Given the description of an element on the screen output the (x, y) to click on. 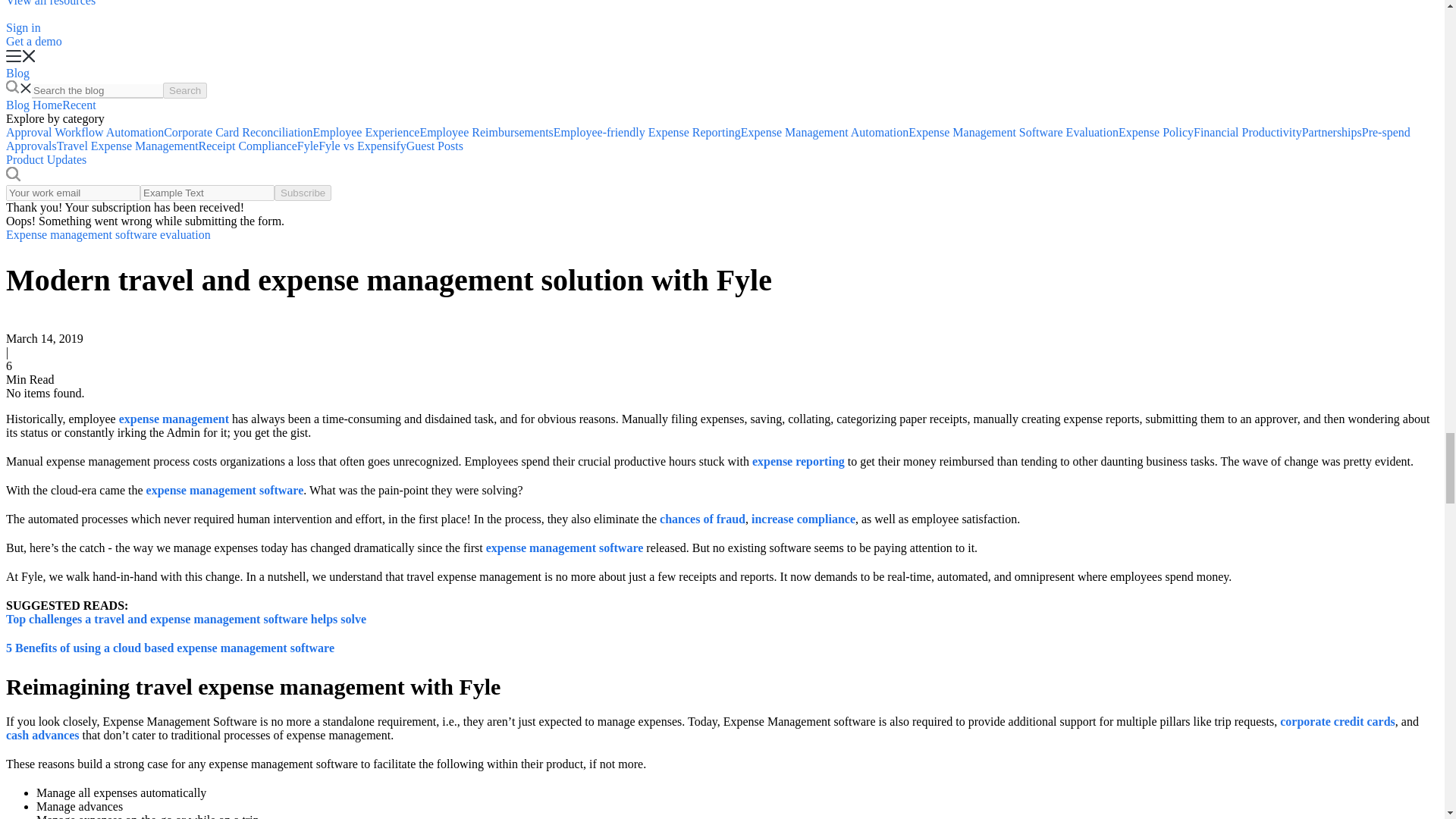
Search (184, 90)
Search (184, 90)
Subscribe (303, 192)
